Given the description of an element on the screen output the (x, y) to click on. 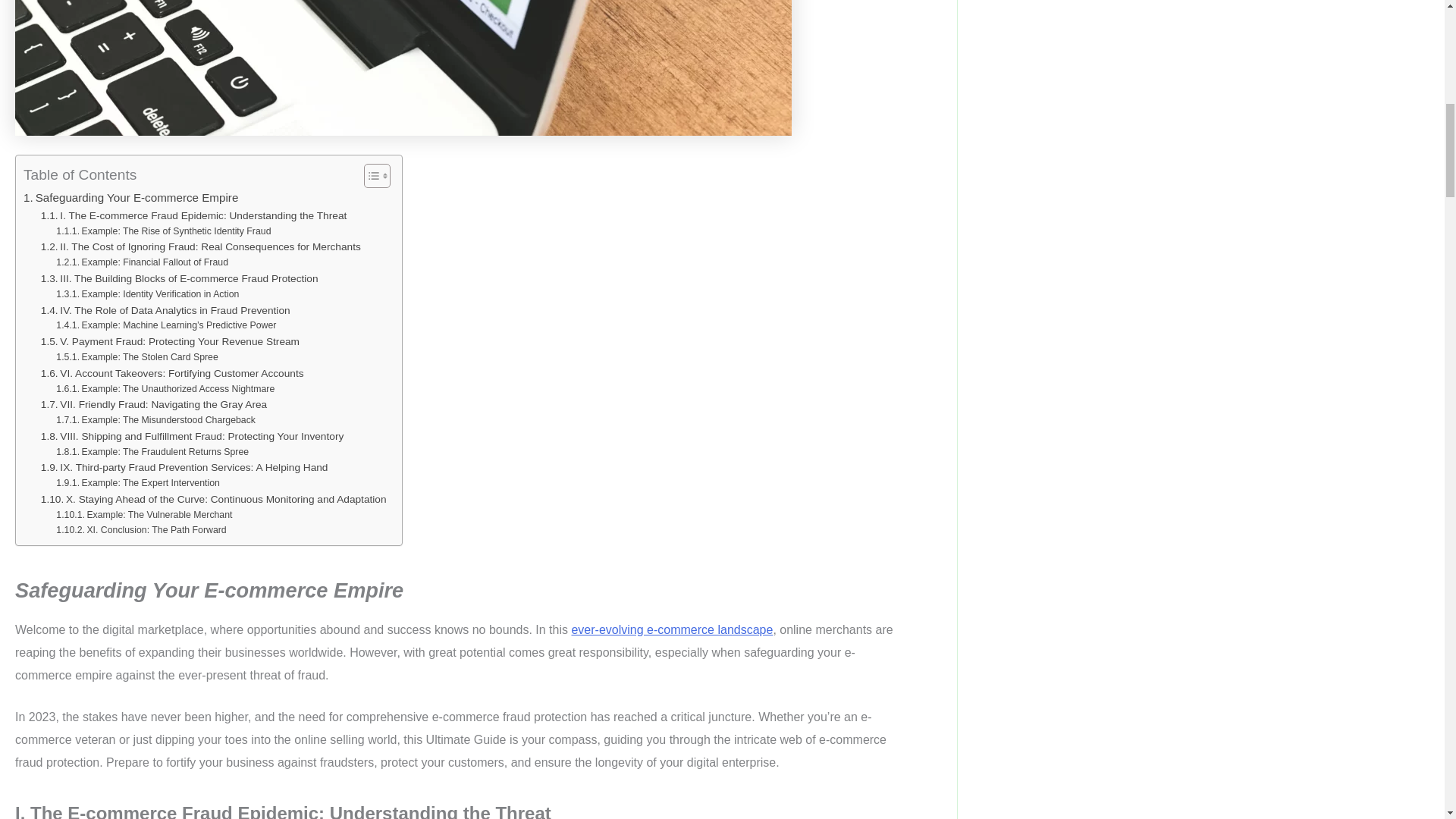
IV. The Role of Data Analytics in Fraud Prevention (164, 310)
Safeguarding Your E-commerce Empire (130, 198)
I. The E-commerce Fraud Epidemic: Understanding the Threat (193, 216)
Example: The Stolen Card Spree (136, 357)
Example: The Rise of Synthetic Identity Fraud (163, 231)
Example: Identity Verification in Action (147, 294)
Safeguarding Your E-commerce Empire (130, 198)
V. Payment Fraud: Protecting Your Revenue Stream (169, 341)
Example: Financial Fallout of Fraud (142, 263)
